Given the description of an element on the screen output the (x, y) to click on. 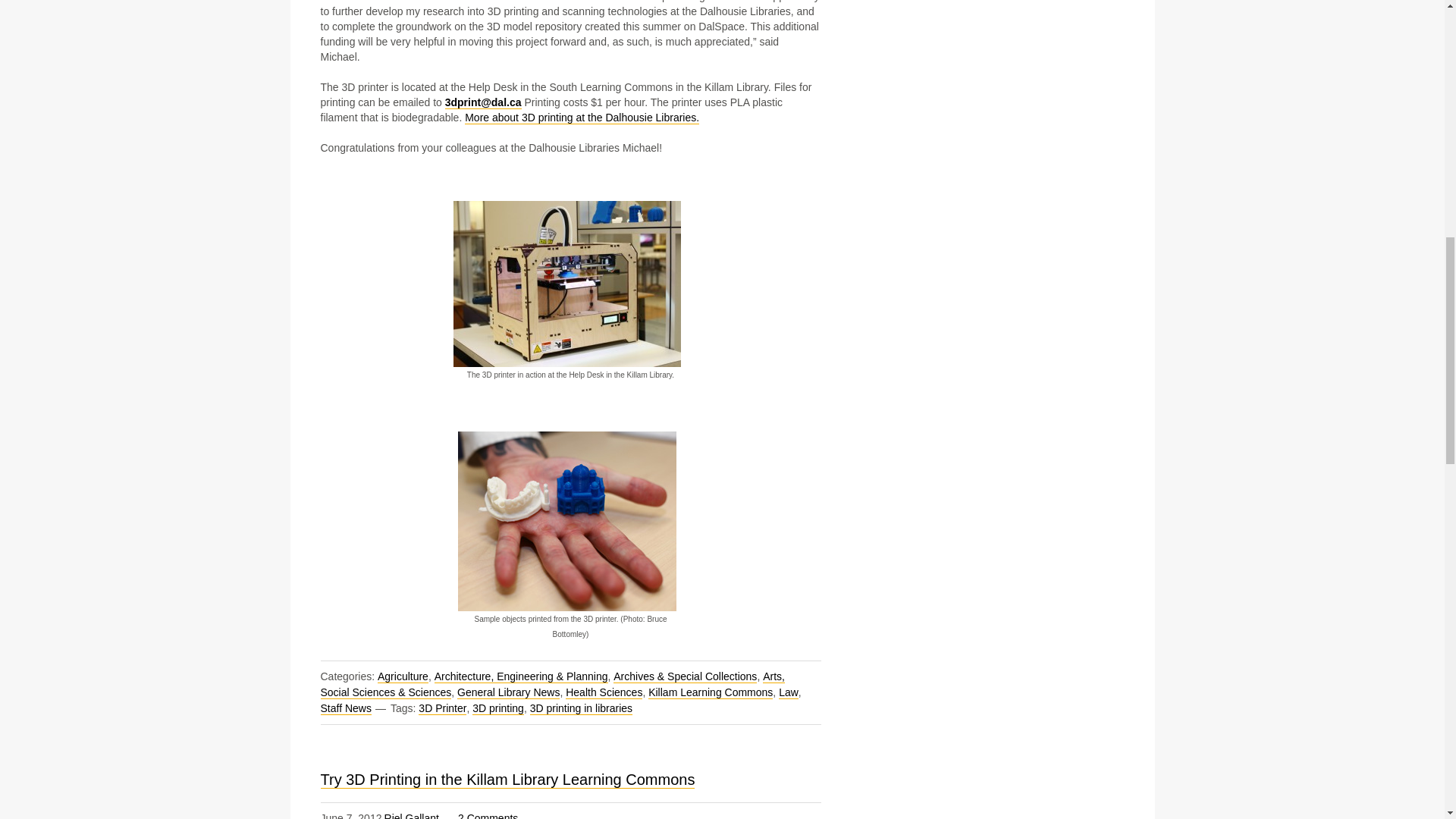
Health Sciences (604, 692)
2 Comments (488, 815)
3D printing in libraries (580, 707)
Agriculture (402, 676)
Law (787, 692)
3D printing (497, 707)
Try 3D Printing in the Killam Library Learning Commons (507, 779)
More about 3D printing at the Dalhousie Libraries. (581, 117)
General Library News (508, 692)
Killam Learning Commons (710, 692)
3D Printer (442, 707)
Staff News (345, 707)
Riel Gallant (411, 815)
